Given the description of an element on the screen output the (x, y) to click on. 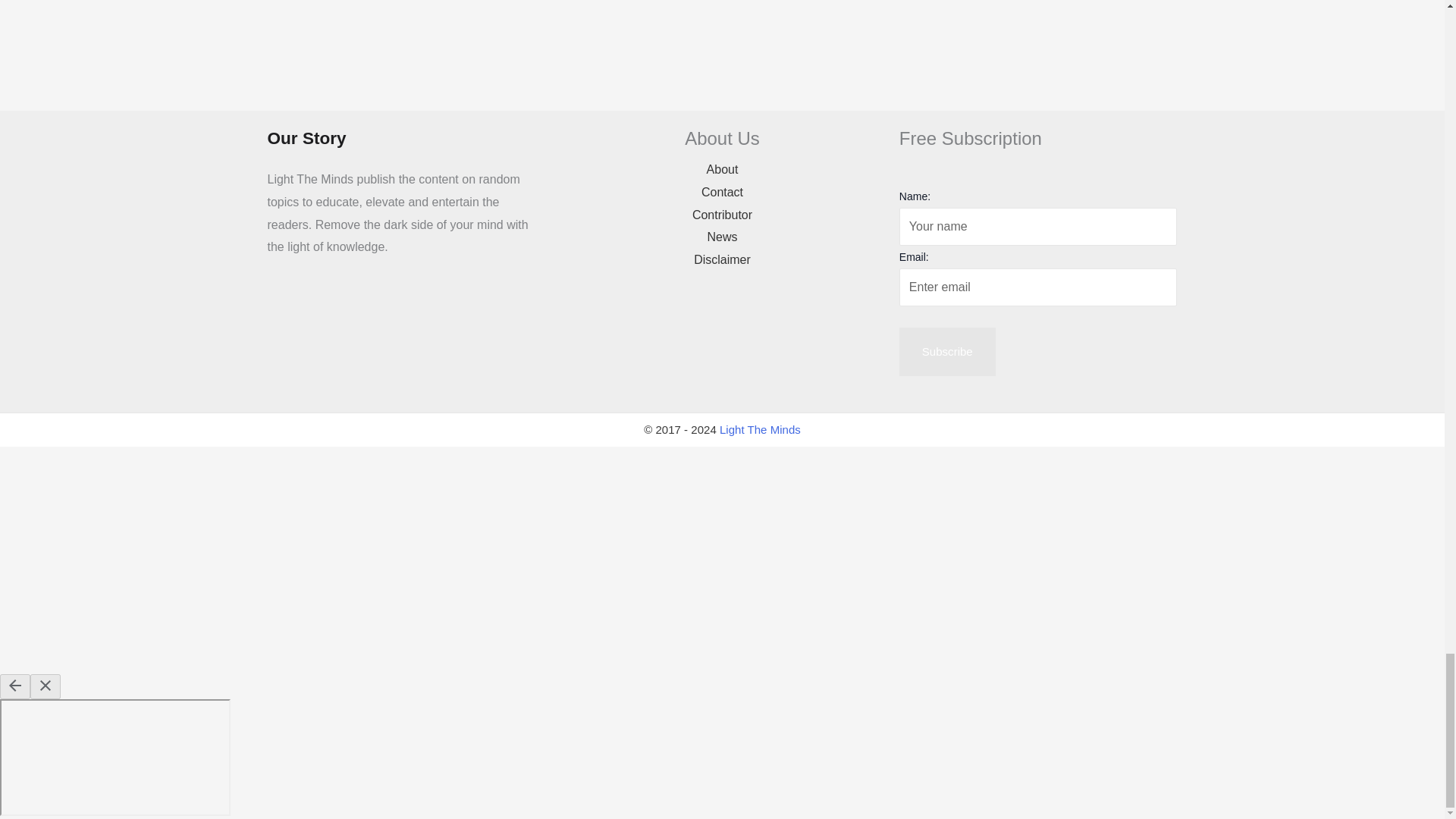
Advertisement (721, 51)
Subscribe (947, 351)
Your name (1038, 226)
Enter email (1038, 287)
